Given the description of an element on the screen output the (x, y) to click on. 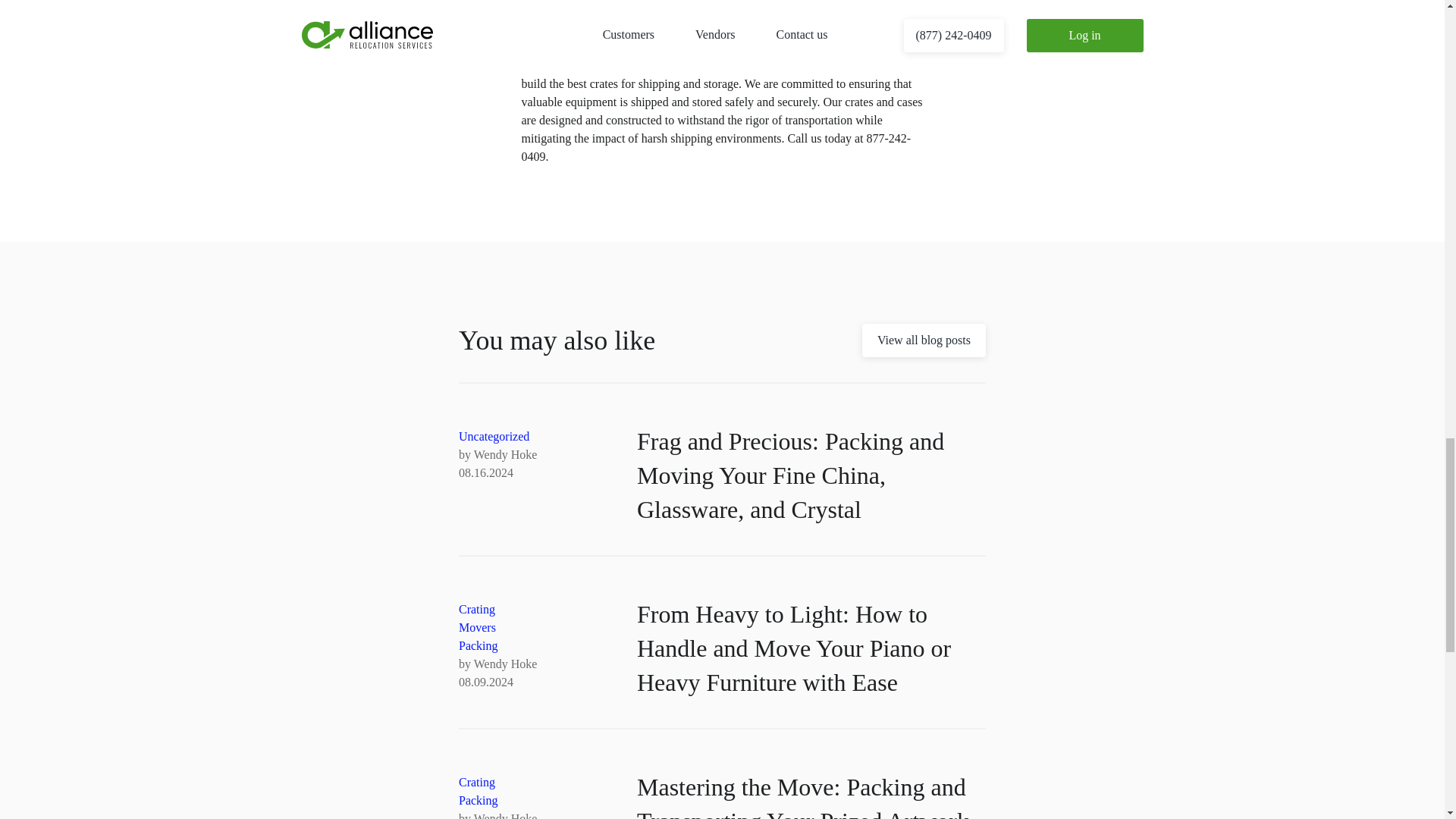
Crating (476, 781)
View all blog posts (923, 340)
Packing (477, 799)
Movers (477, 626)
Uncategorized (493, 436)
Packing (477, 645)
Crating (476, 608)
